Given the description of an element on the screen output the (x, y) to click on. 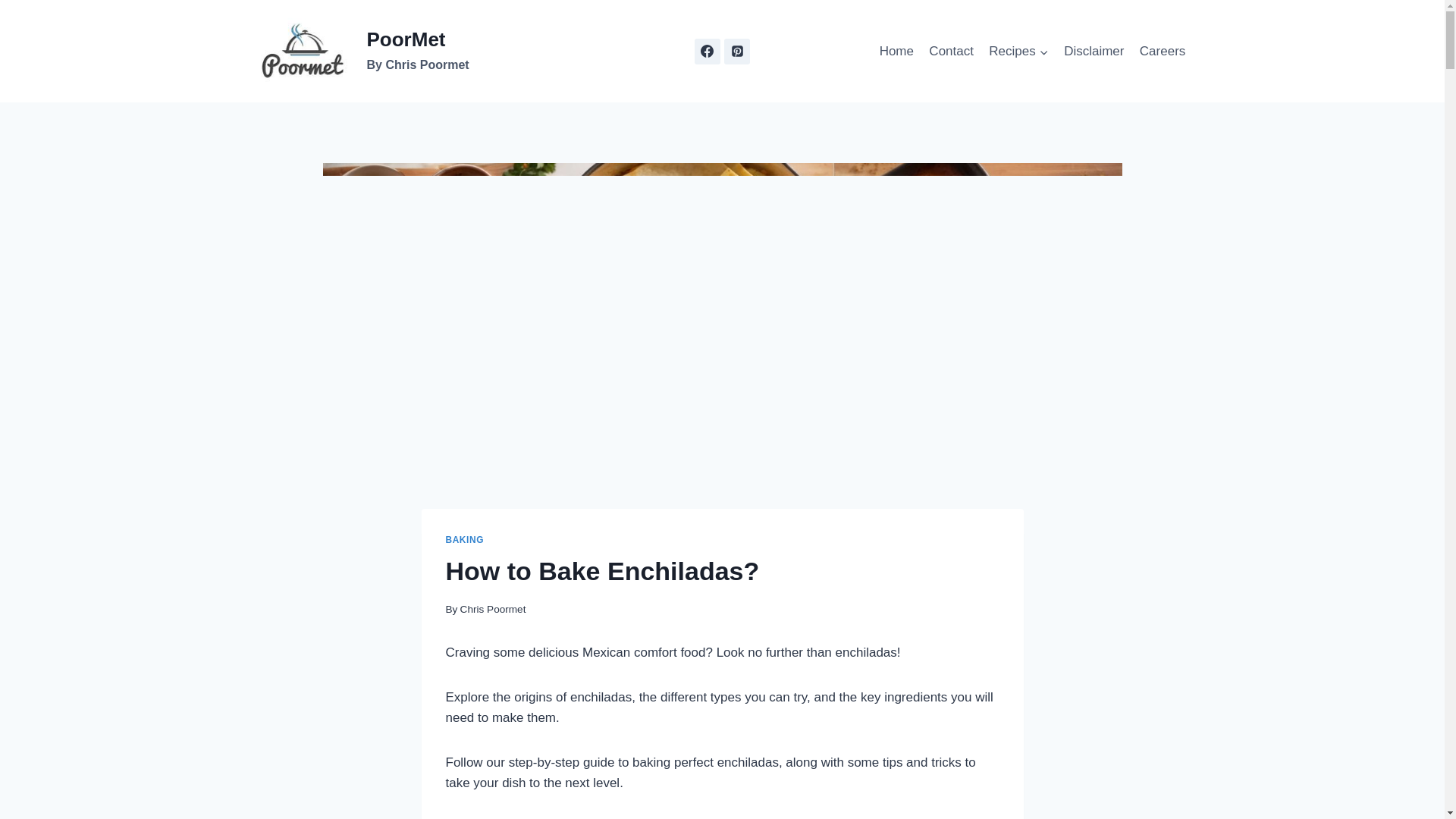
Contact (951, 51)
Recipes (1019, 51)
Disclaimer (1094, 51)
Chris Poormet (492, 609)
BAKING (464, 539)
Home (359, 51)
Careers (895, 51)
